Given the description of an element on the screen output the (x, y) to click on. 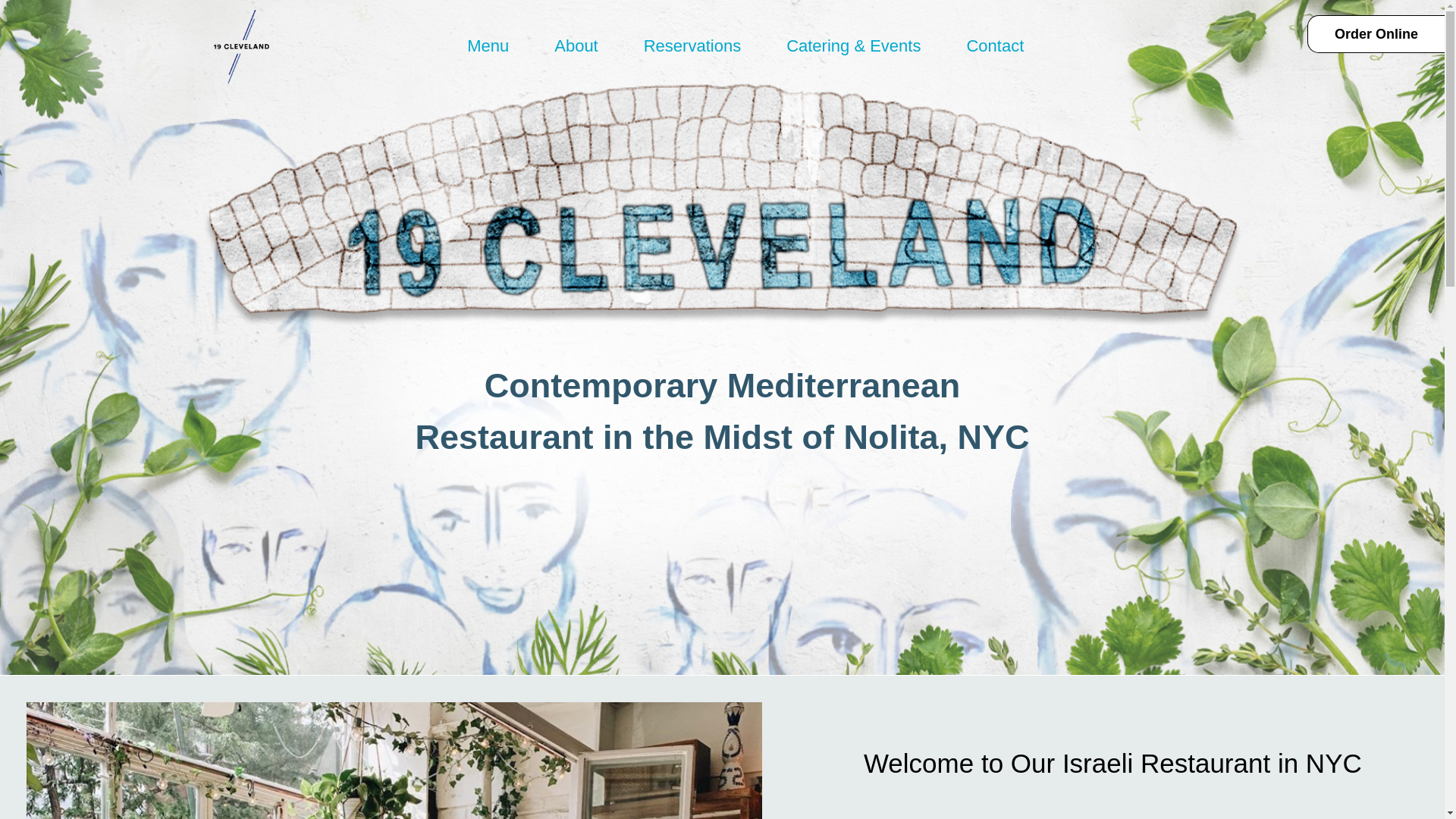
Contact Element type: text (994, 46)
Menu Element type: text (487, 46)
Catering & Events Element type: text (853, 46)
About Element type: text (576, 46)
Order Online Element type: text (1375, 34)
Reservations Element type: text (692, 46)
